Given the description of an element on the screen output the (x, y) to click on. 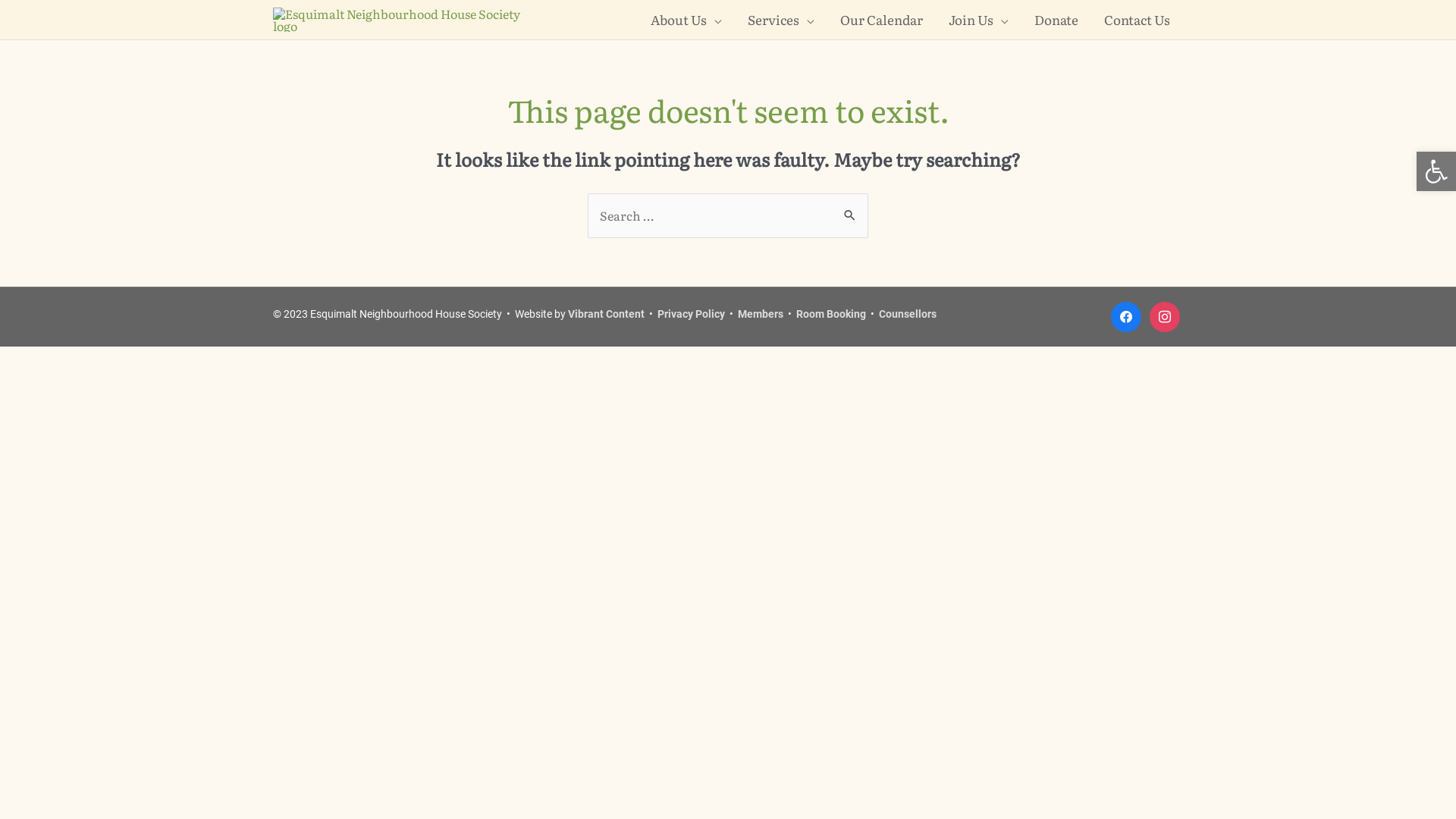
About Us Element type: text (685, 19)
Services Element type: text (780, 19)
Donate Element type: text (1056, 19)
Search Element type: text (851, 214)
facebook Element type: text (1125, 316)
Vibrant Content Element type: text (605, 313)
Counsellors Element type: text (907, 313)
Our Calendar Element type: text (881, 19)
Privacy Policy Element type: text (690, 313)
Members Element type: text (760, 313)
Room Booking Element type: text (831, 313)
Join Us Element type: text (978, 19)
Contact Us Element type: text (1137, 19)
instagram Element type: text (1164, 316)
